Given the description of an element on the screen output the (x, y) to click on. 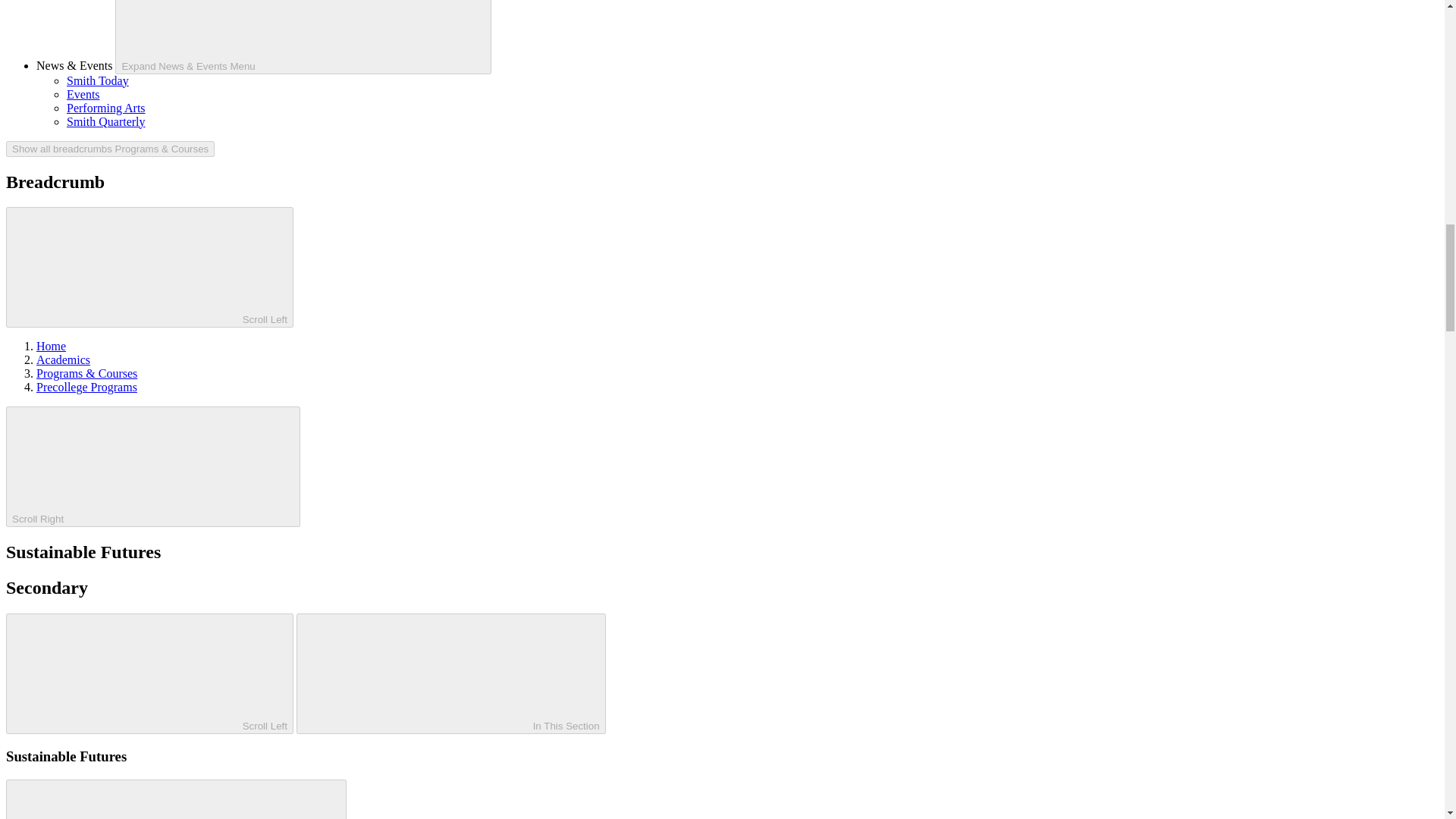
Scroll Right (152, 466)
Scroll Left (149, 267)
Scroll Left (149, 673)
